Given the description of an element on the screen output the (x, y) to click on. 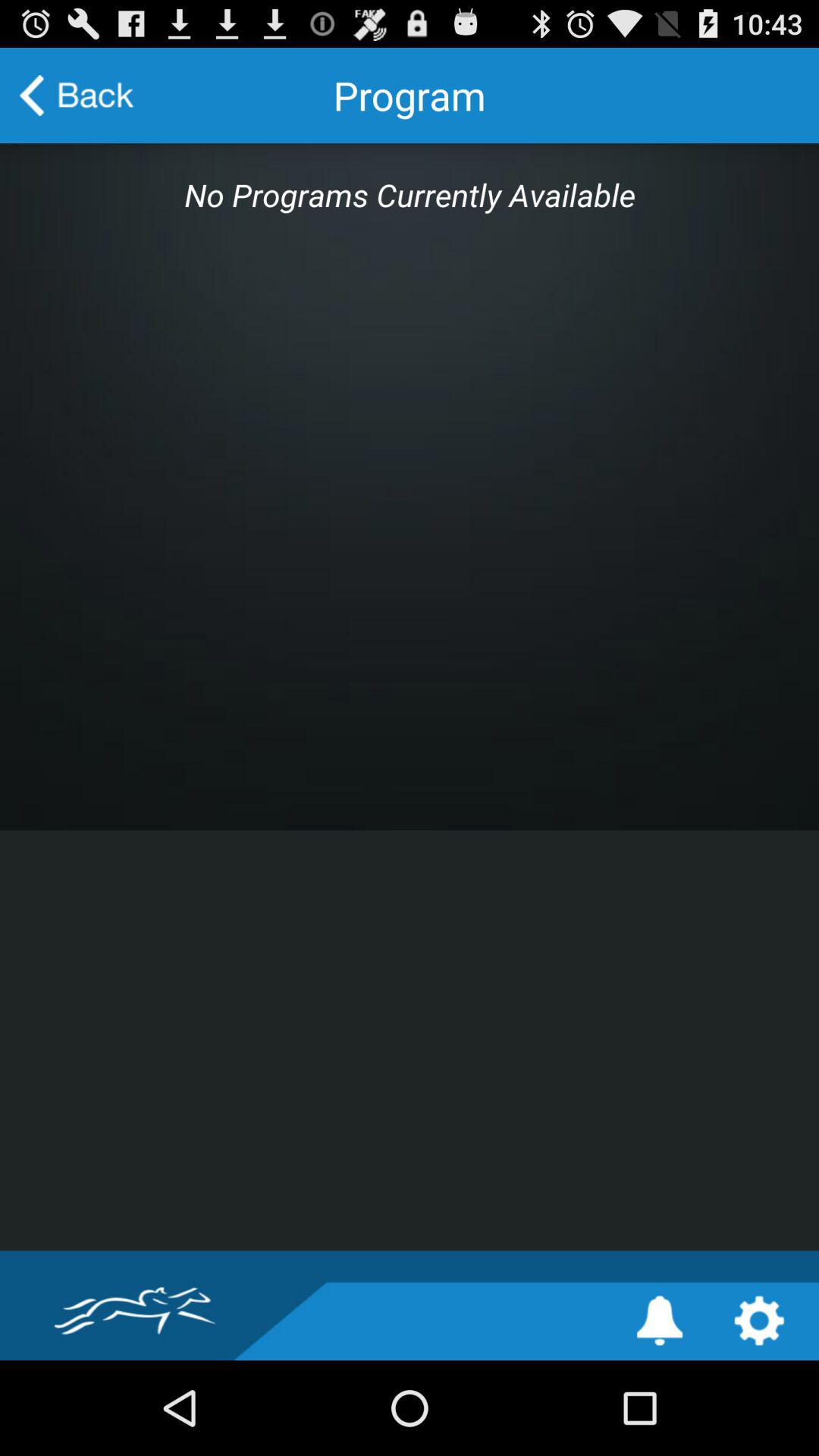
open settings (759, 1320)
